Given the description of an element on the screen output the (x, y) to click on. 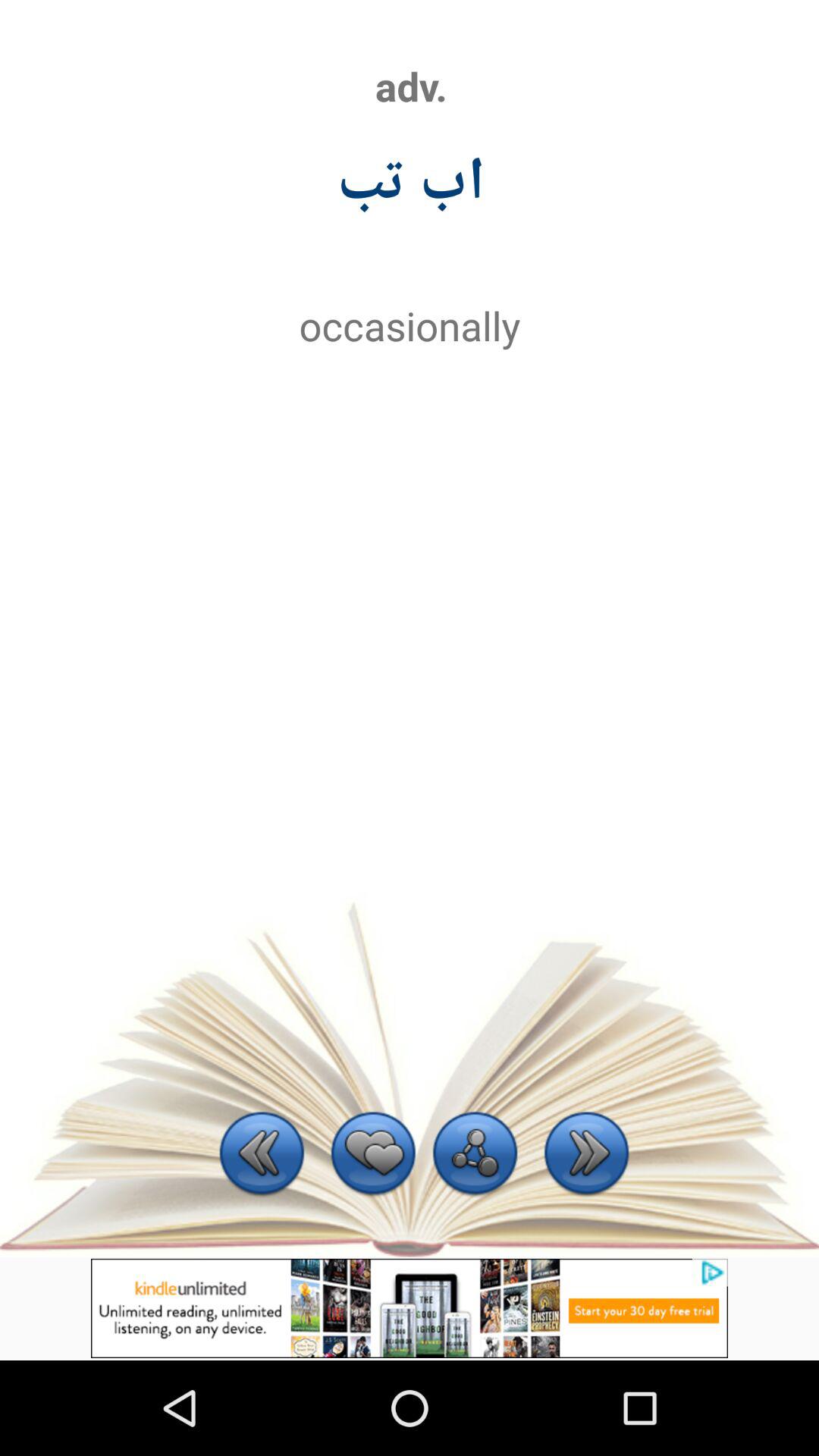
advertisements image (409, 1308)
